Given the description of an element on the screen output the (x, y) to click on. 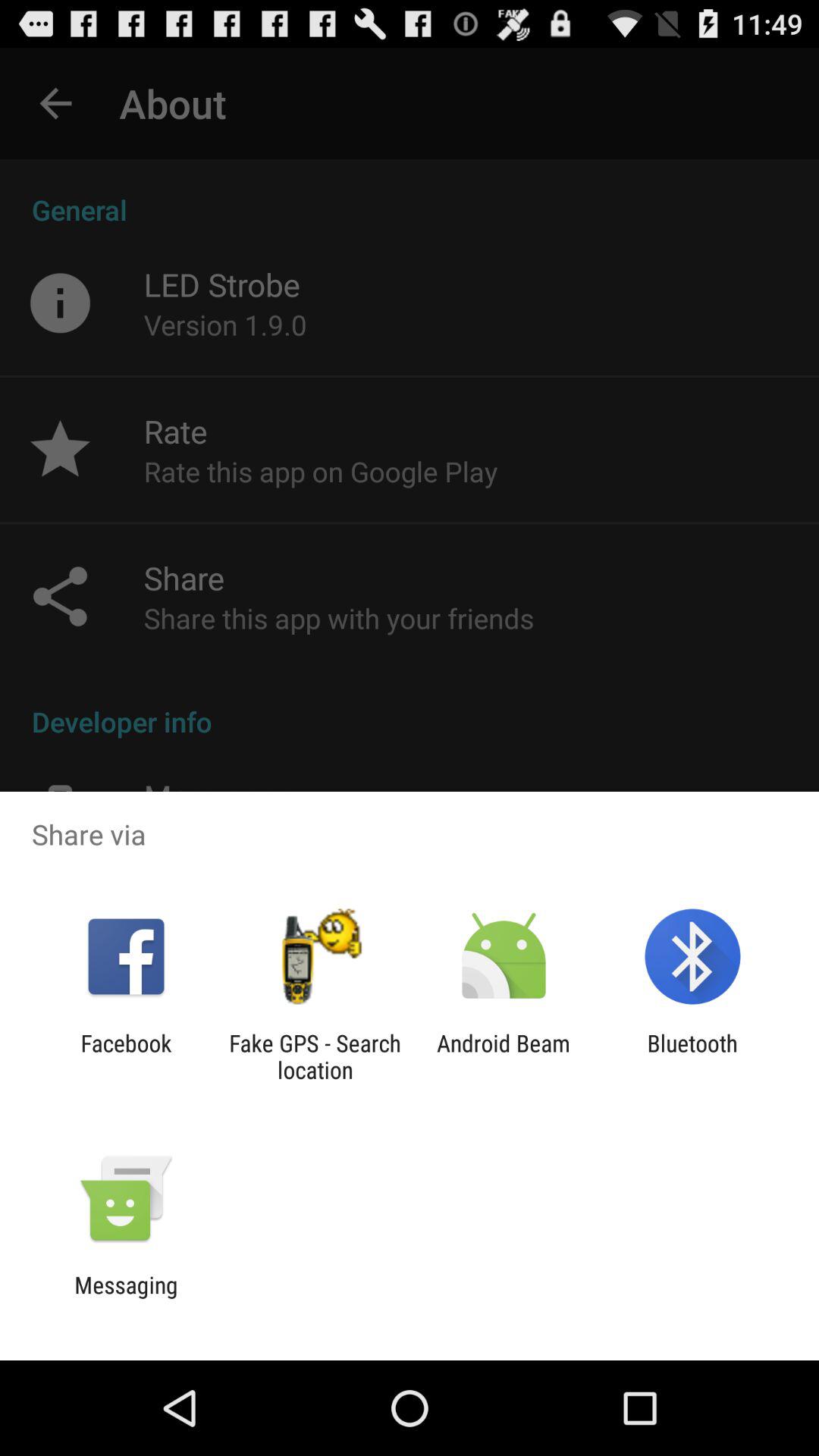
click android beam item (503, 1056)
